Given the description of an element on the screen output the (x, y) to click on. 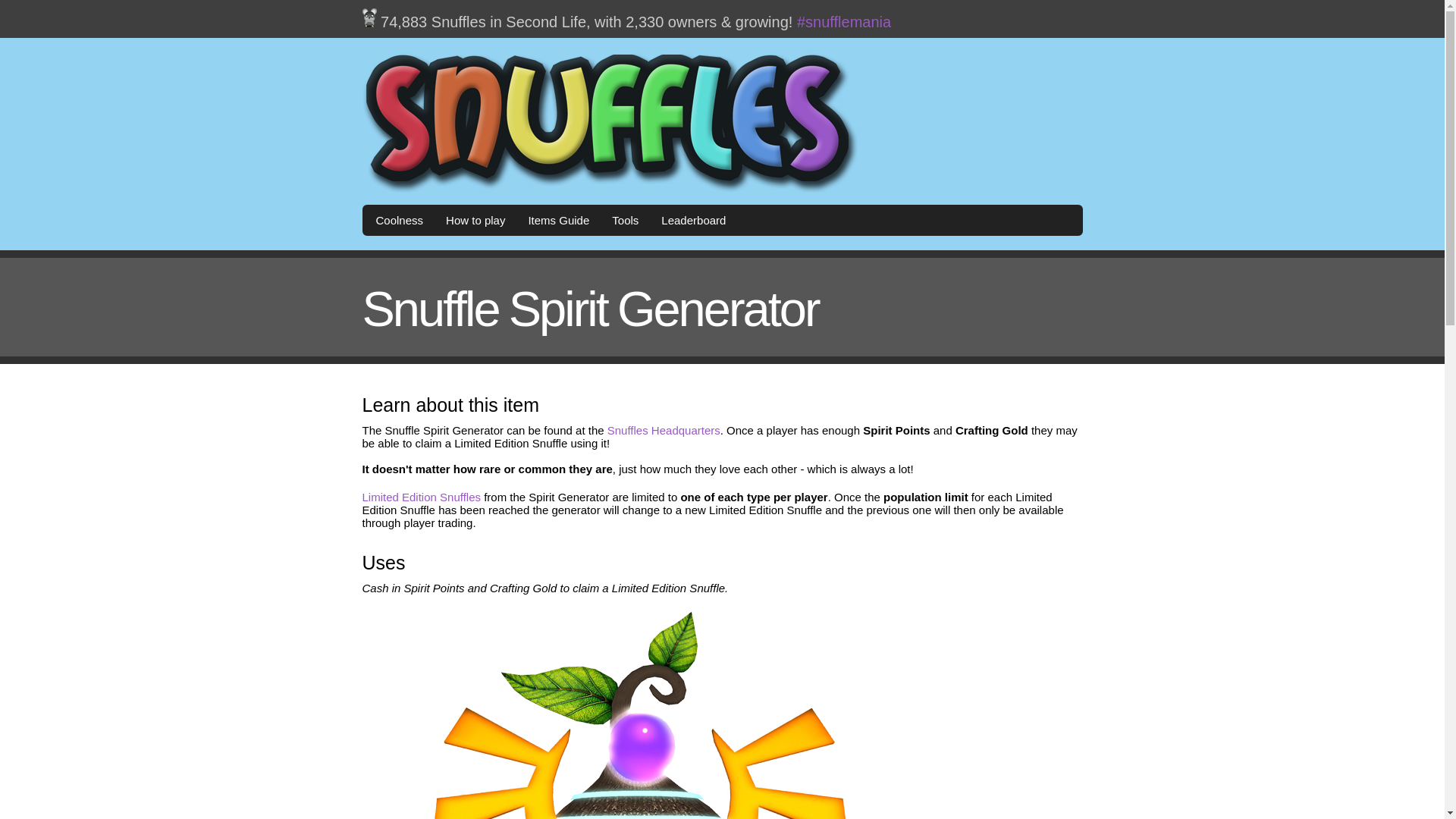
Tools (624, 220)
How to play (474, 220)
Snuffles Headquarters (663, 430)
Coolness (398, 220)
Leaderboard (692, 220)
Limited Edition Snuffles (421, 496)
Items Guide (557, 220)
